Given the description of an element on the screen output the (x, y) to click on. 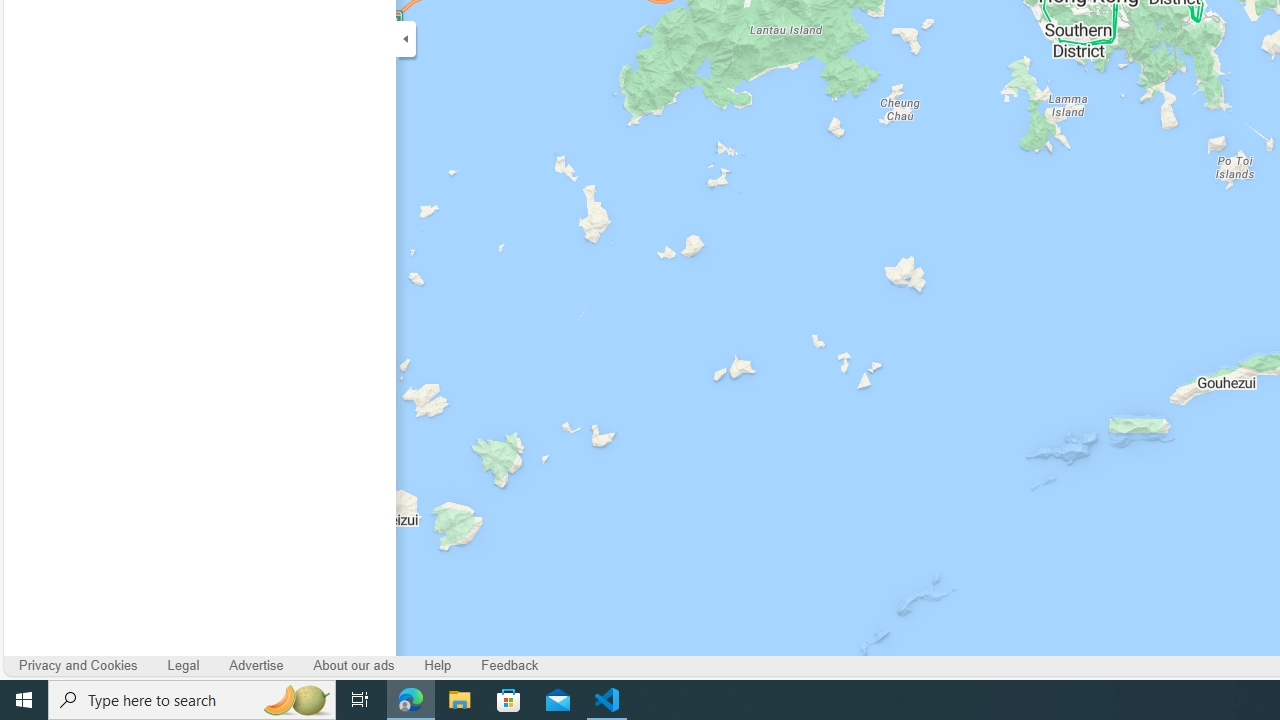
Privacy and Cookies (78, 665)
About our ads (354, 665)
About our ads (353, 665)
Expand/Collapse Cards (405, 38)
Privacy and Cookies (78, 665)
